Given the description of an element on the screen output the (x, y) to click on. 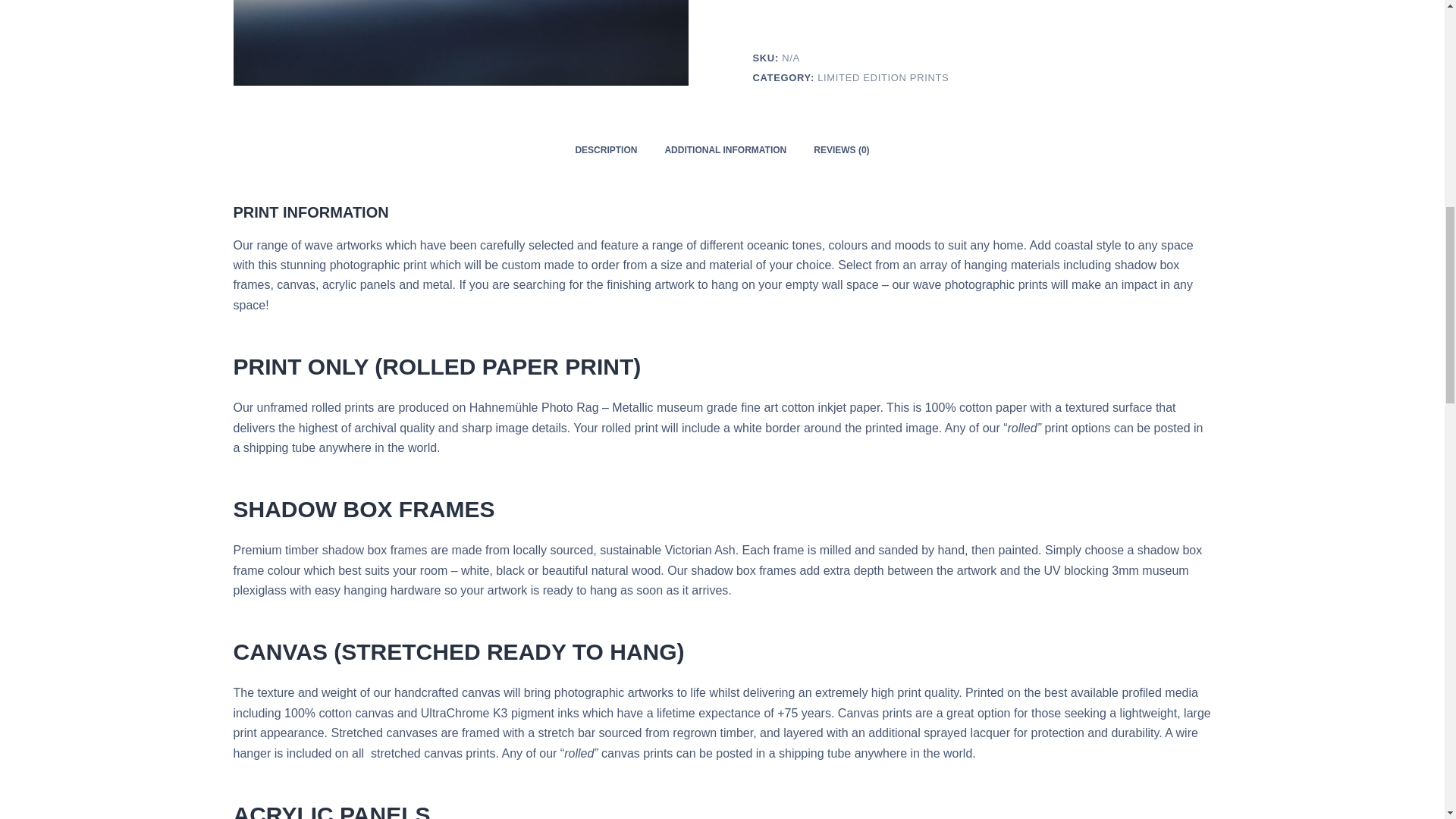
DESCRIPTION (605, 150)
ADDITIONAL INFORMATION (724, 150)
LIMITED EDITION PRINTS (882, 77)
